Given the description of an element on the screen output the (x, y) to click on. 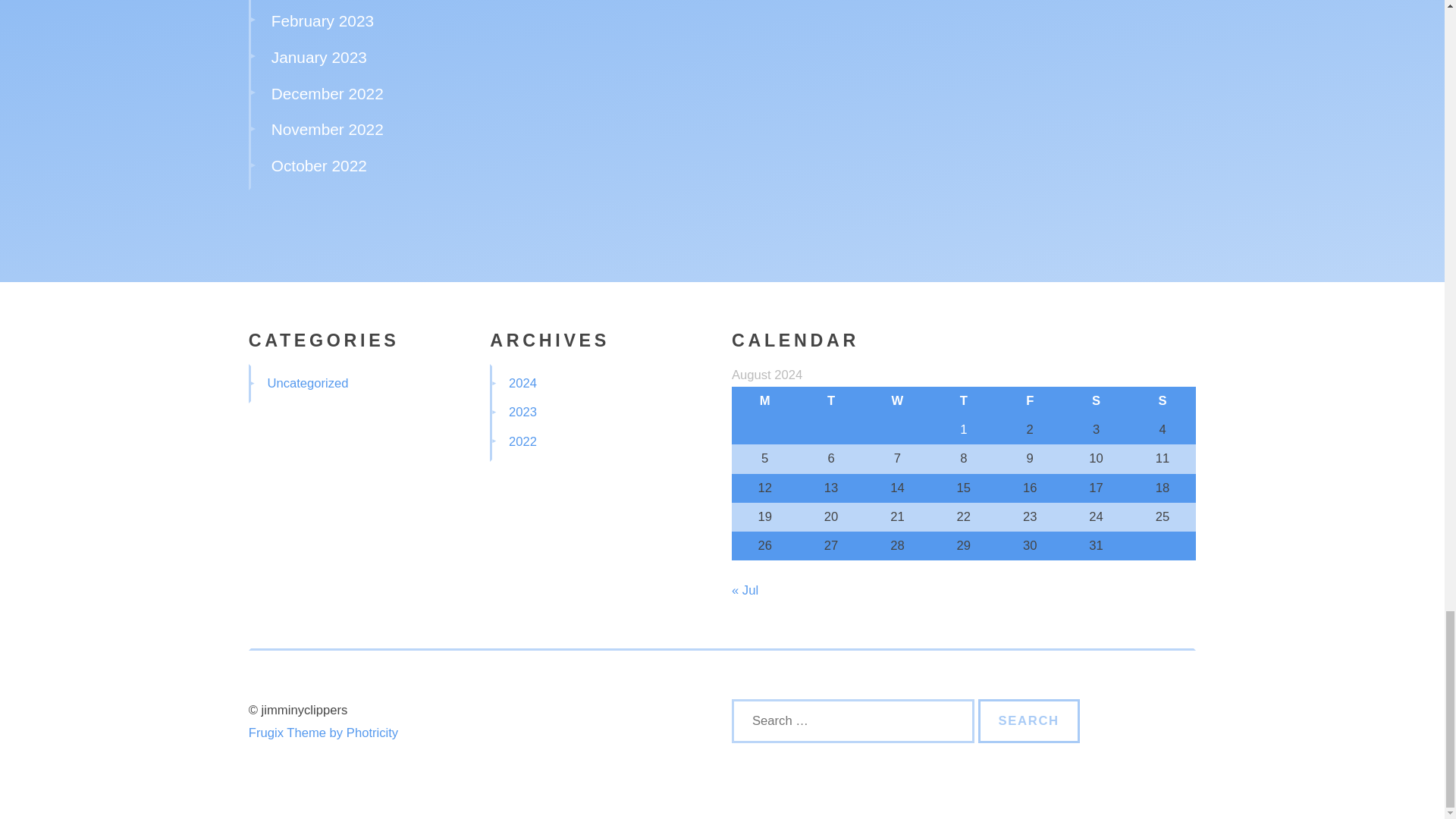
Search (1029, 720)
Friday (1029, 400)
December 2022 (327, 93)
Saturday (1095, 400)
Tuesday (830, 400)
Monday (764, 400)
October 2022 (318, 165)
Wednesday (897, 400)
January 2023 (318, 57)
Sunday (1162, 400)
